Given the description of an element on the screen output the (x, y) to click on. 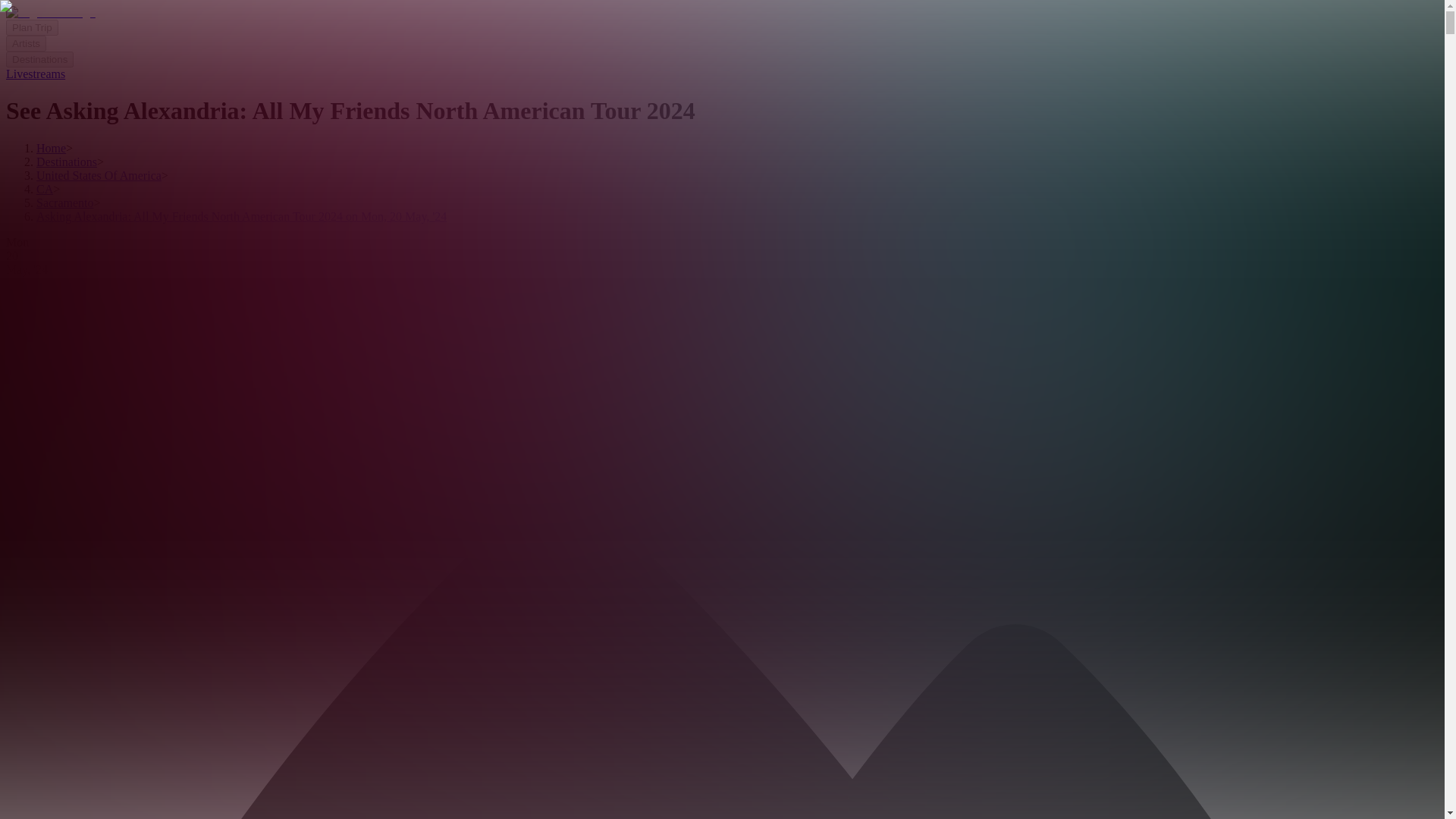
Find more events around Sacramento, CA (107, 395)
Home (50, 147)
Sacramento (65, 202)
Find more events around Sacramento, CA (107, 395)
Destinations (39, 59)
Livestreams (35, 73)
Artists (25, 43)
Destinations (66, 161)
CA (44, 188)
